Given the description of an element on the screen output the (x, y) to click on. 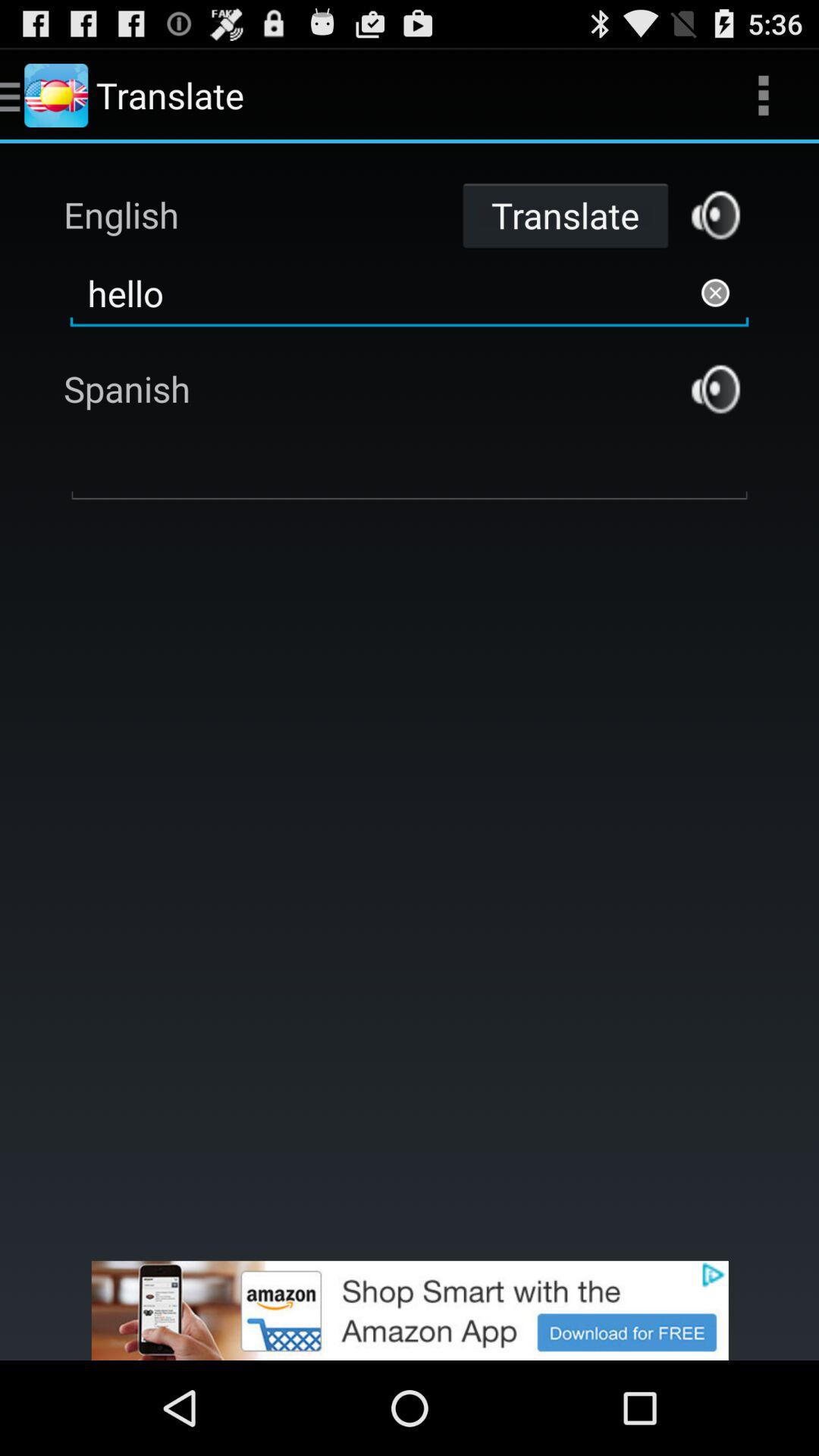
speaker button (715, 388)
